Given the description of an element on the screen output the (x, y) to click on. 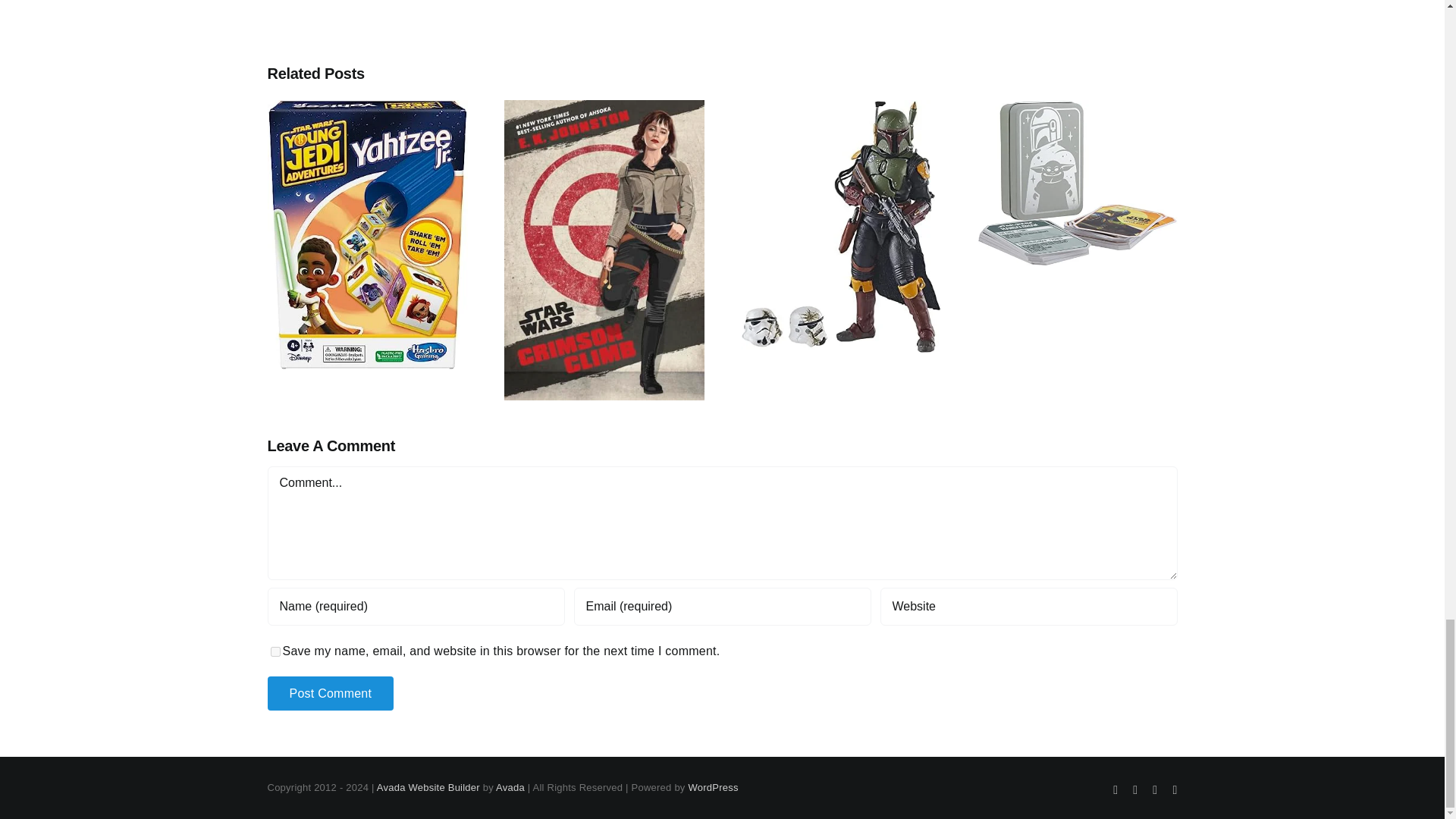
Post Comment (329, 693)
yes (274, 651)
